Given the description of an element on the screen output the (x, y) to click on. 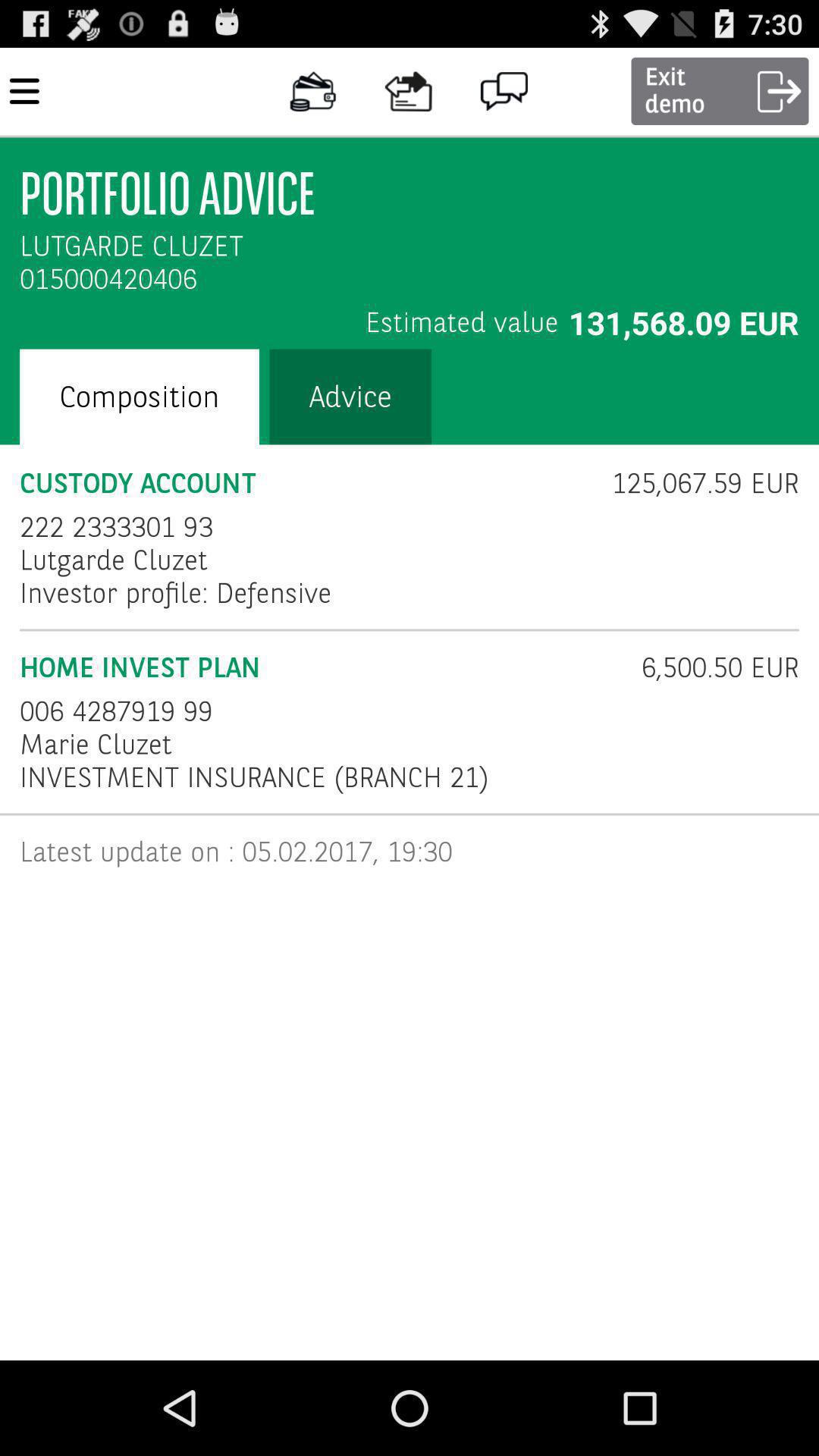
press the checkbox next to the home invest plan icon (710, 667)
